Given the description of an element on the screen output the (x, y) to click on. 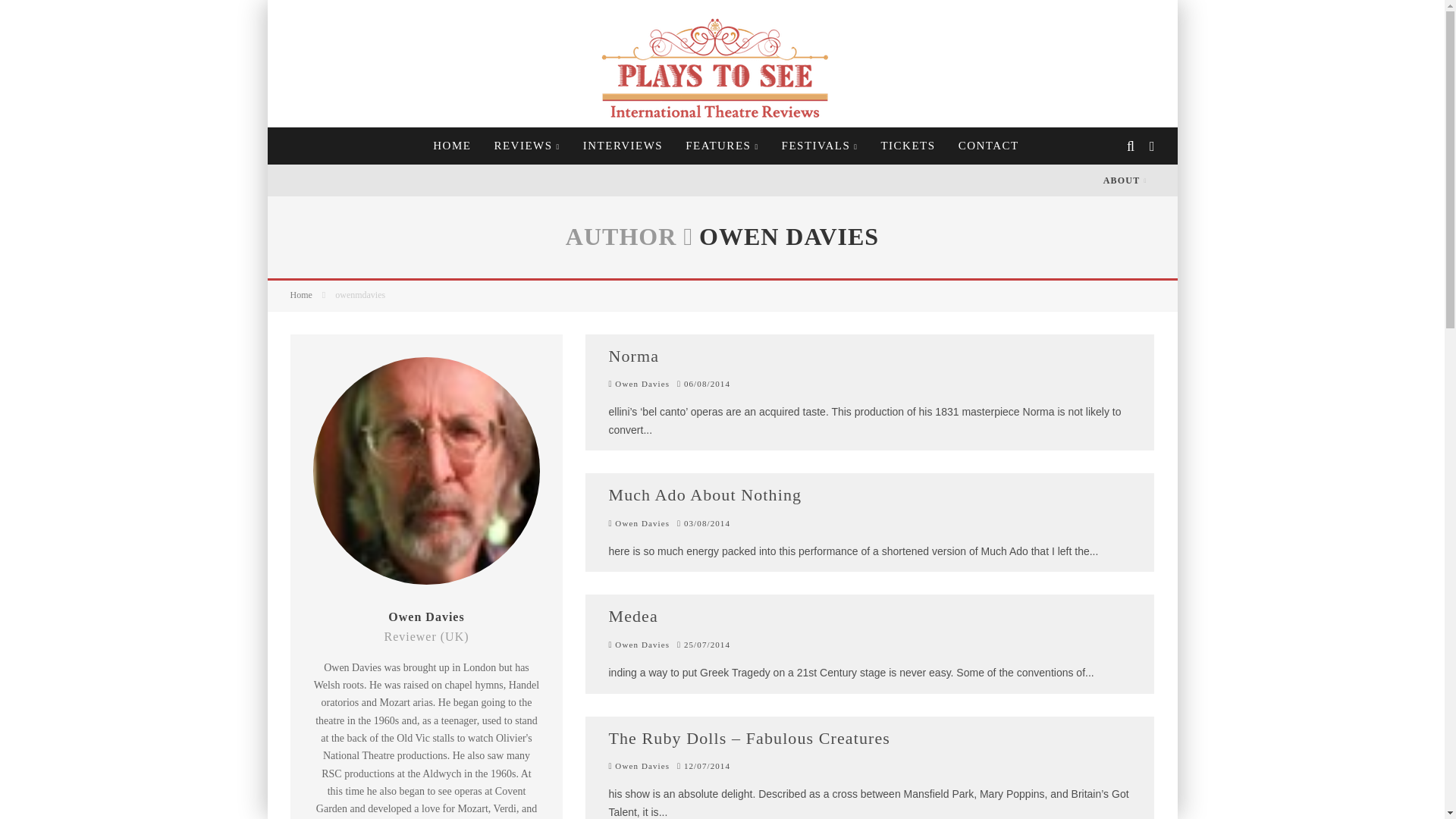
REVIEWS (525, 145)
HOME (451, 145)
